Given the description of an element on the screen output the (x, y) to click on. 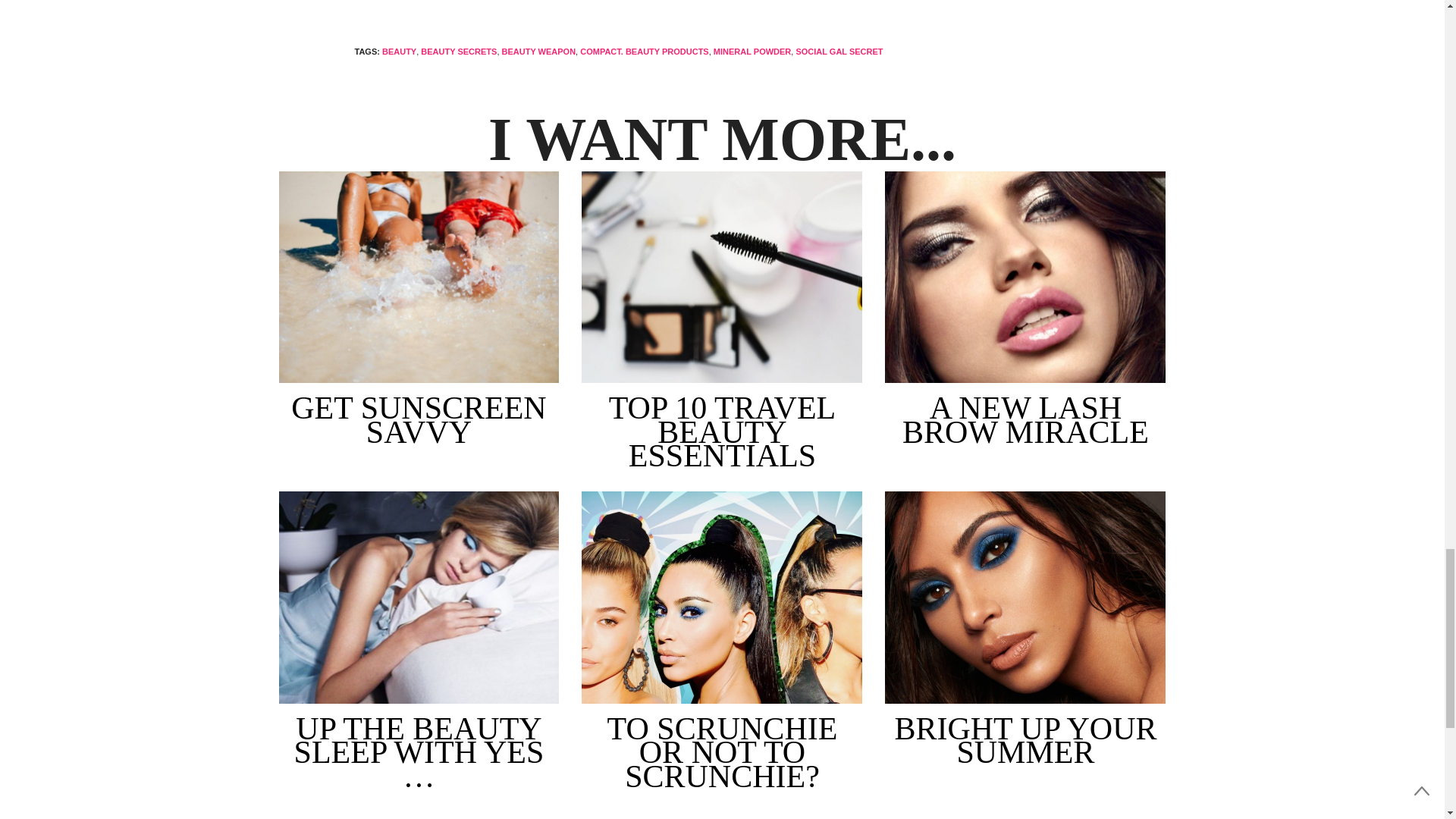
A NEW LASH BROW MIRACLE (1025, 419)
GET SUNSCREEN SAVVY (419, 277)
GET SUNSCREEN SAVVY (418, 419)
TOP 10 TRAVEL BEAUTY ESSENTIALS (720, 277)
TOP 10 TRAVEL BEAUTY ESSENTIALS (721, 431)
A NEW LASH BROW MIRACLE (1025, 277)
